Given the description of an element on the screen output the (x, y) to click on. 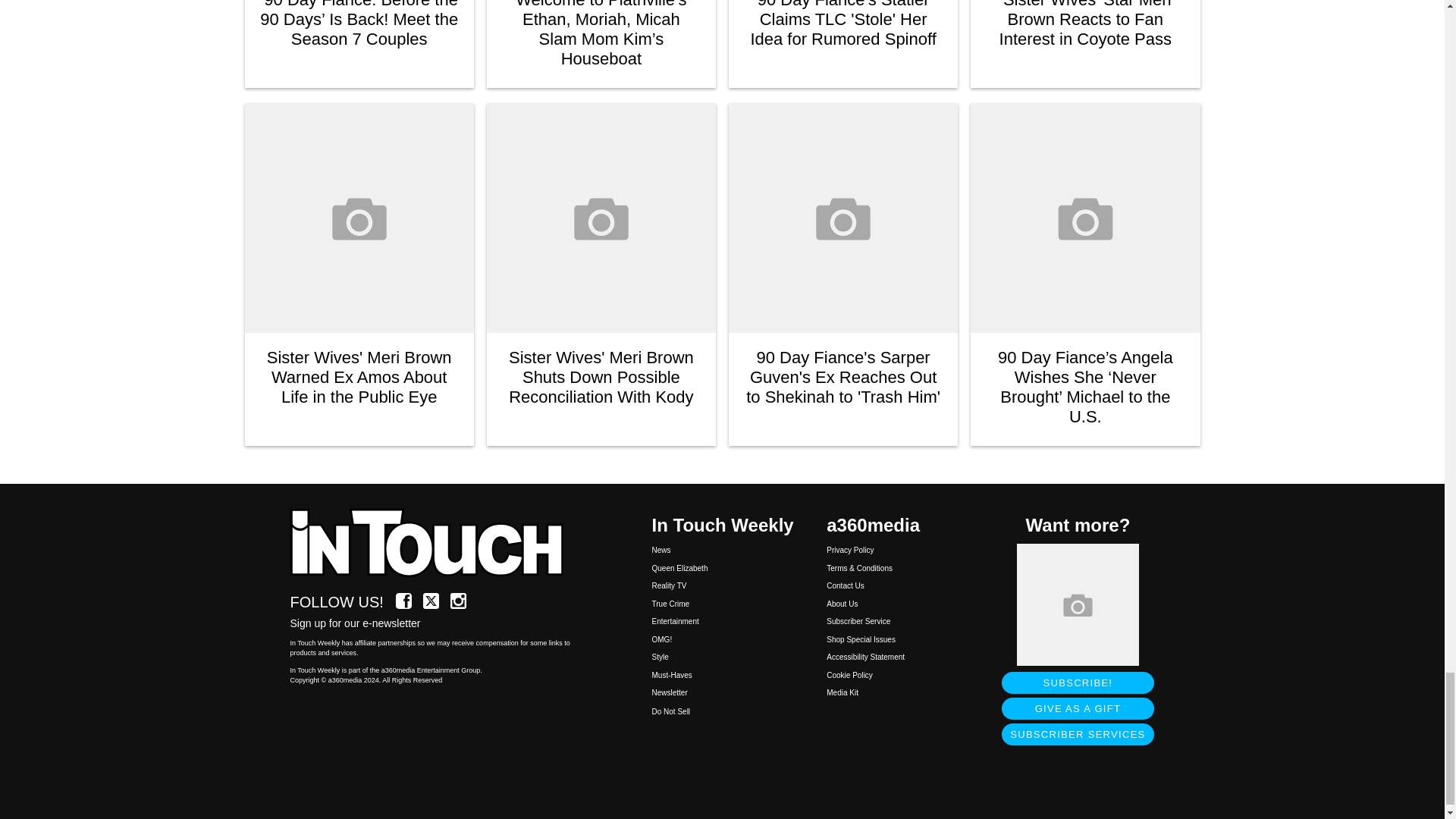
Home (434, 543)
